Given the description of an element on the screen output the (x, y) to click on. 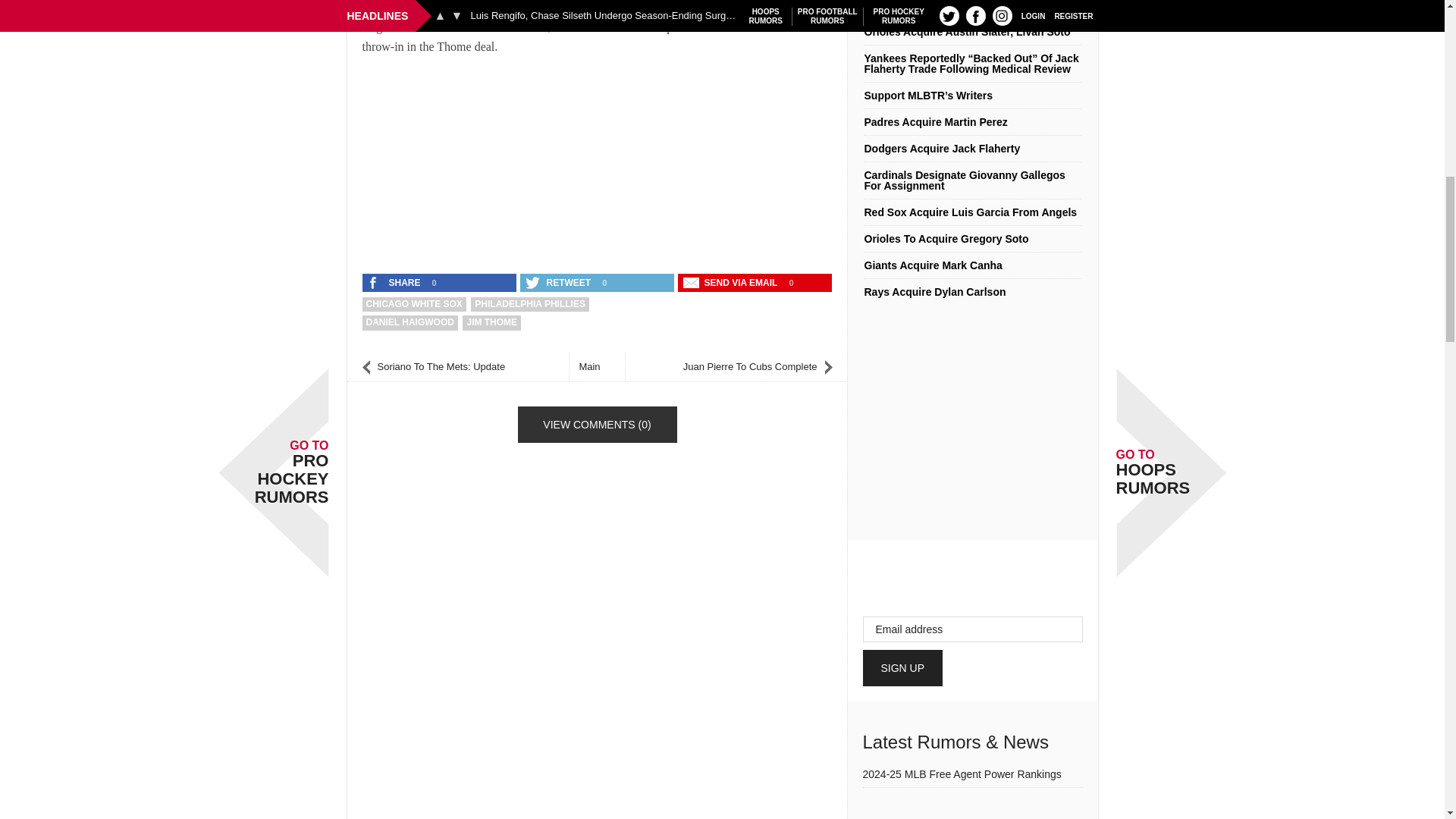
Sign Up (903, 668)
